Given the description of an element on the screen output the (x, y) to click on. 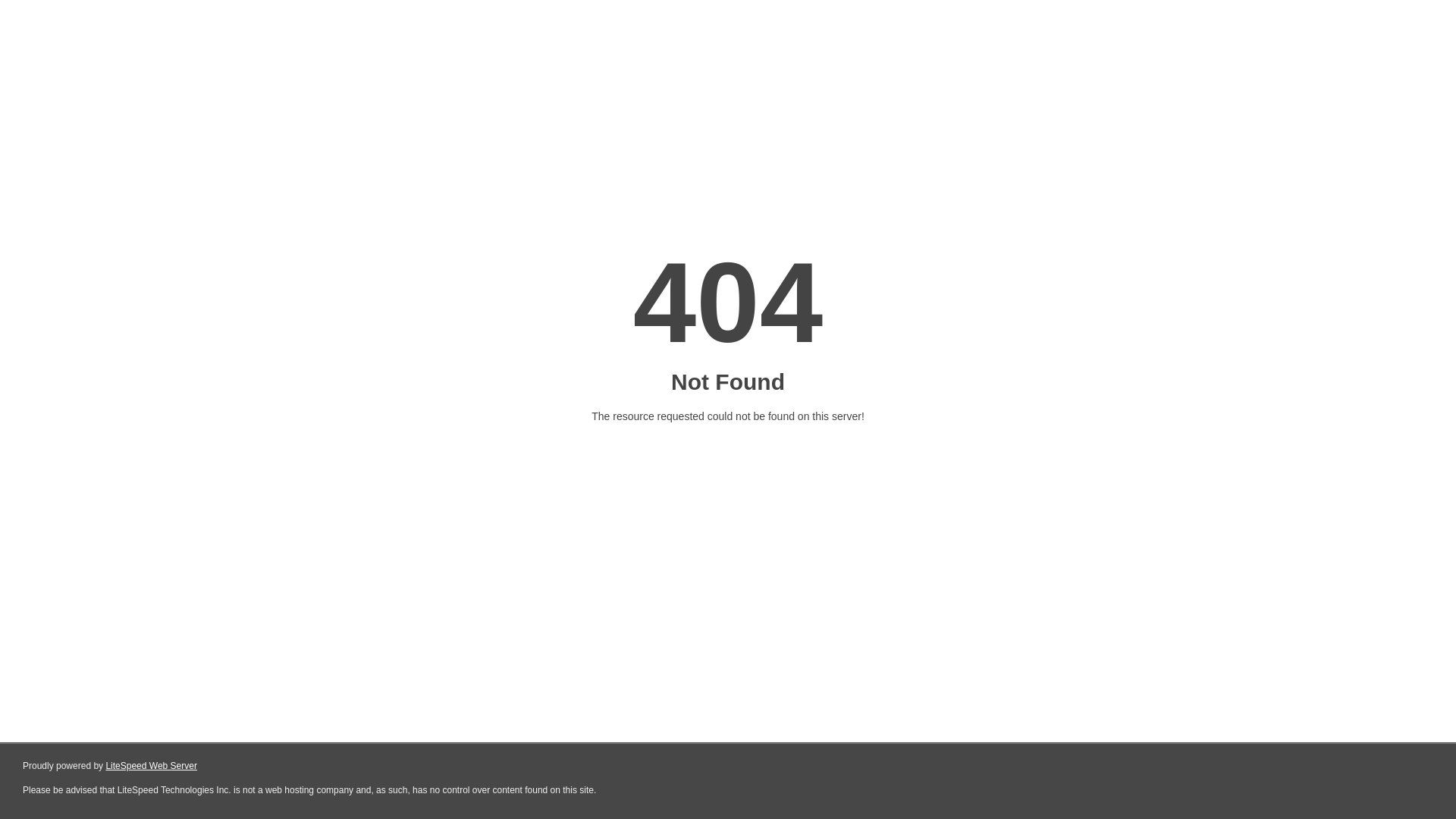
LiteSpeed Web Server (150, 765)
